Given the description of an element on the screen output the (x, y) to click on. 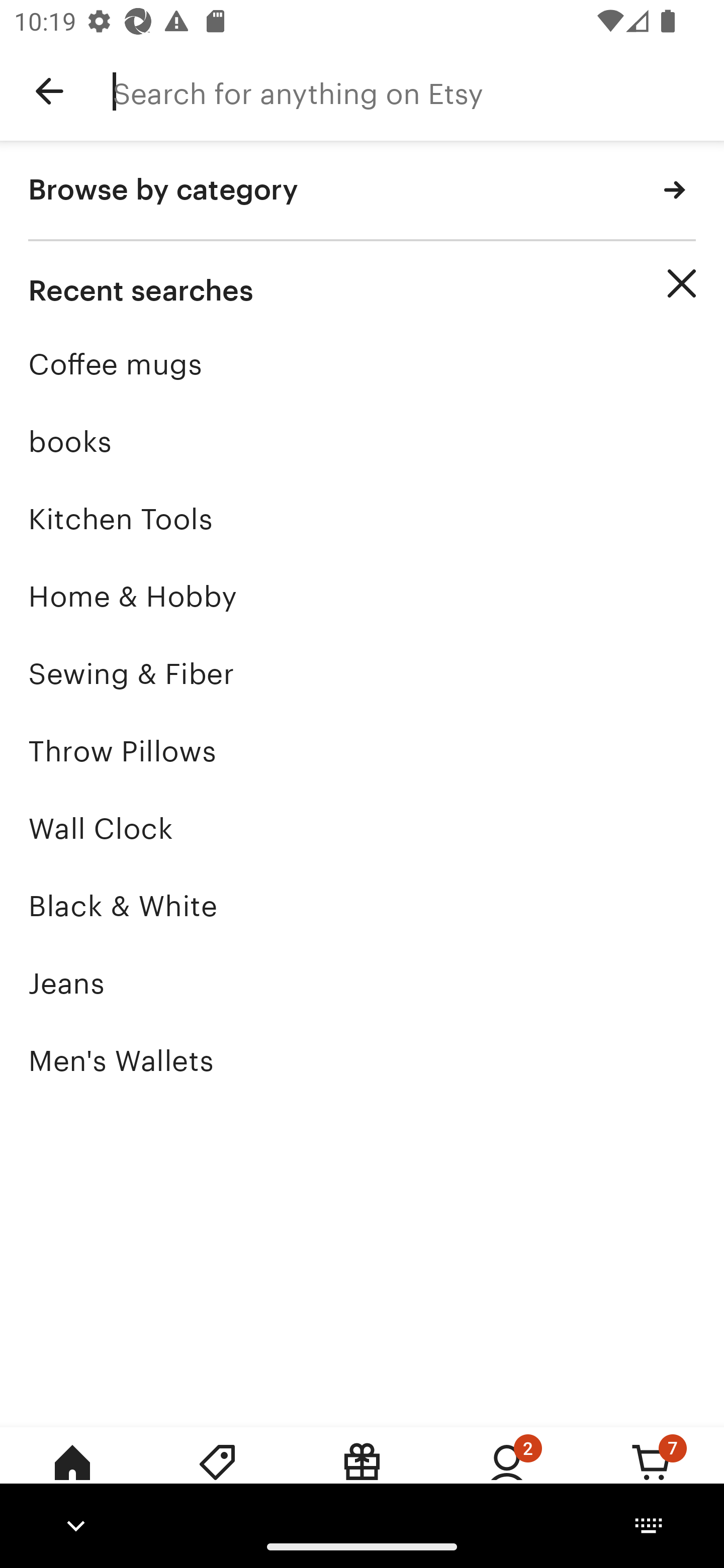
Navigate up (49, 91)
Search for anything on Etsy (418, 91)
Browse by category (362, 191)
Clear (681, 283)
Coffee mugs (362, 364)
books (362, 440)
Kitchen Tools (362, 518)
Home & Hobby (362, 596)
Sewing & Fiber (362, 673)
Throw Pillows (362, 750)
Wall Clock (362, 828)
Black & White (362, 906)
Jeans (362, 983)
Men's Wallets (362, 1060)
Deals (216, 1475)
Gift Mode (361, 1475)
You, 2 new notifications (506, 1475)
Cart, 7 new notifications (651, 1475)
